Given the description of an element on the screen output the (x, y) to click on. 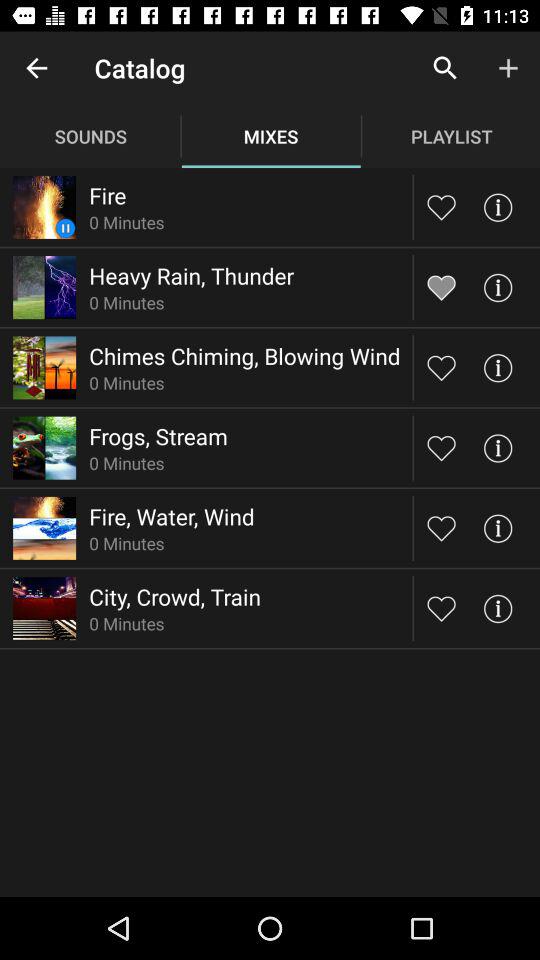
save to favorites (441, 206)
